Given the description of an element on the screen output the (x, y) to click on. 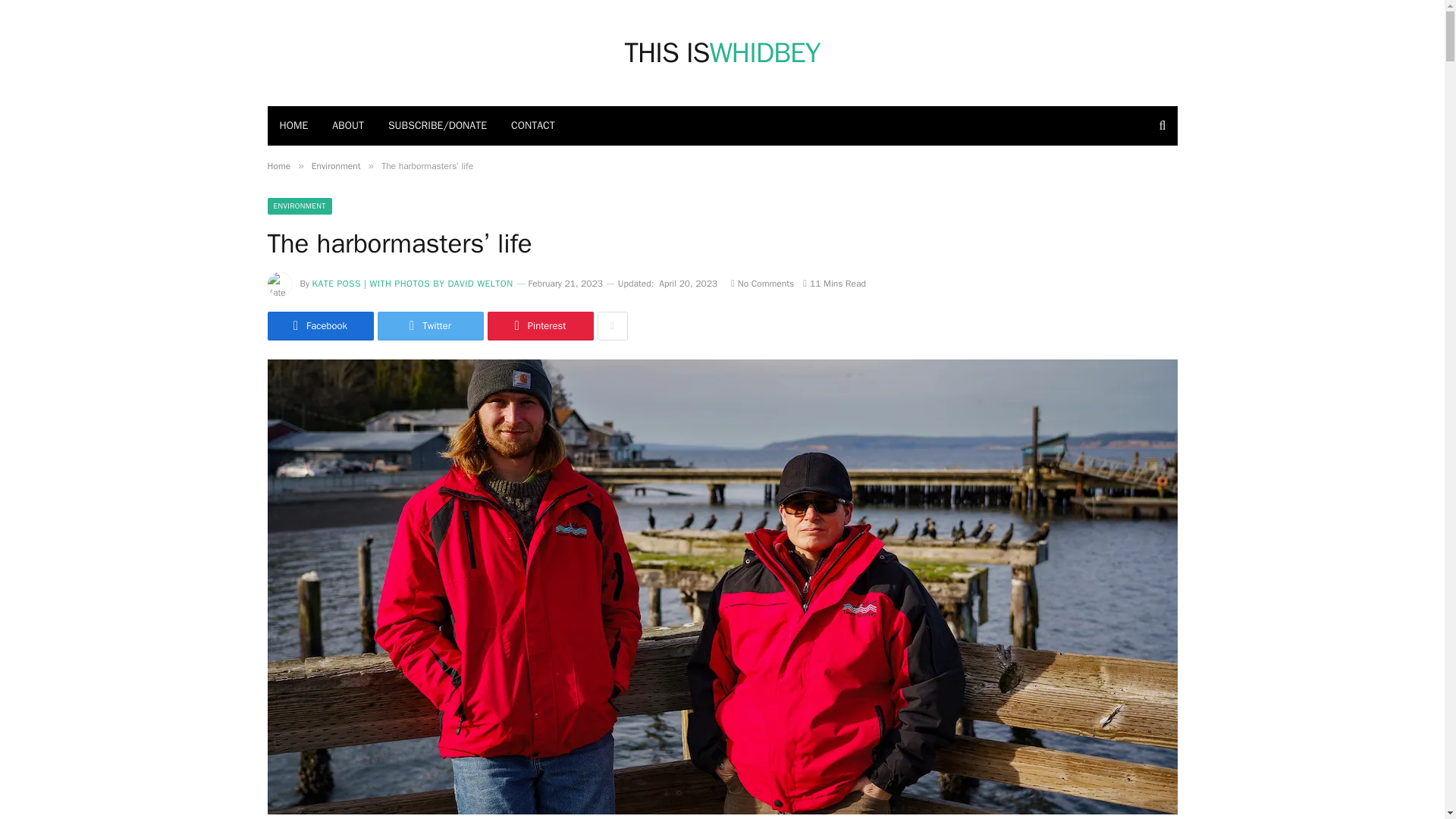
Facebook (319, 326)
Twitter (721, 52)
This Is Whidbey (430, 326)
Environment (721, 52)
Home (336, 165)
Share on Facebook (277, 165)
ABOUT (319, 326)
Show More Social Sharing (347, 125)
Share on Pinterest (611, 326)
